Given the description of an element on the screen output the (x, y) to click on. 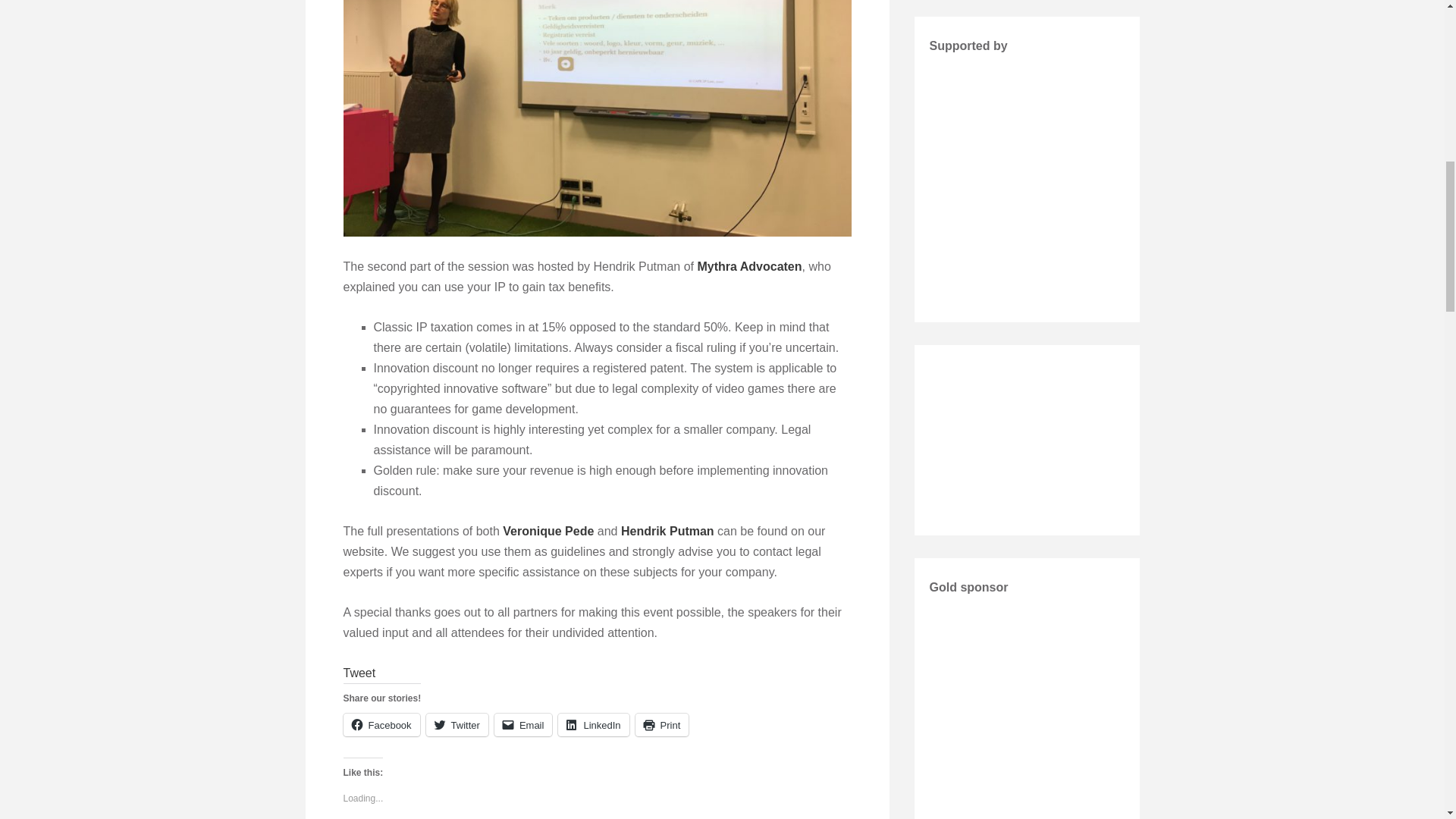
Click to share on LinkedIn (592, 724)
Email (524, 724)
Hendrik Putman (667, 530)
Click to share on Facebook (380, 724)
Twitter (456, 724)
Click to email a link to a friend (524, 724)
Tweet (358, 672)
Print (661, 724)
Facebook (380, 724)
Click to print (661, 724)
Click to share on Twitter (456, 724)
Veronique Pede (548, 530)
LinkedIn (592, 724)
Mythra Advocaten (749, 266)
